Given the description of an element on the screen output the (x, y) to click on. 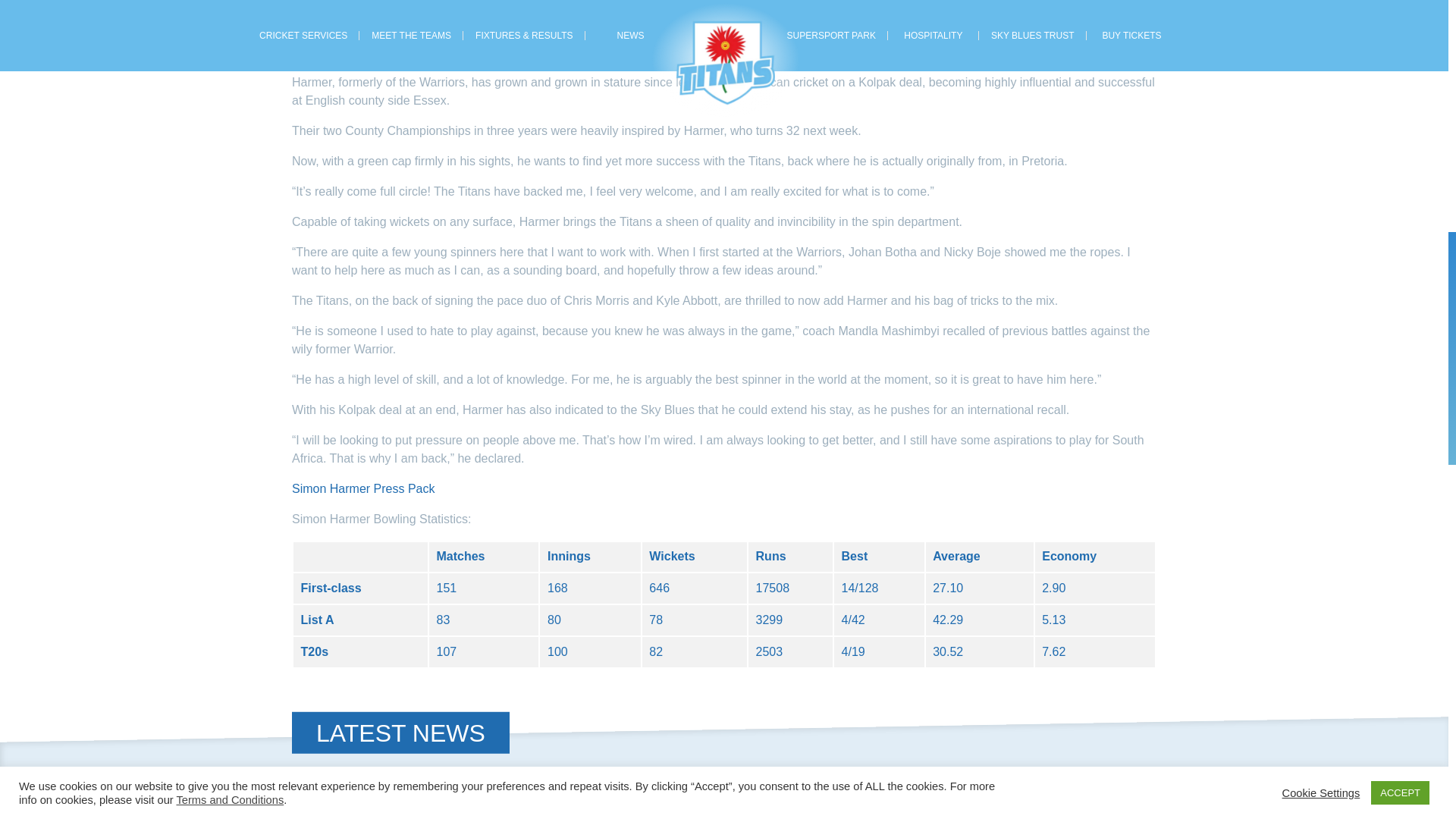
Simon Harmer Press Pack (363, 488)
VIEW ALL NEWS (1073, 808)
